Given the description of an element on the screen output the (x, y) to click on. 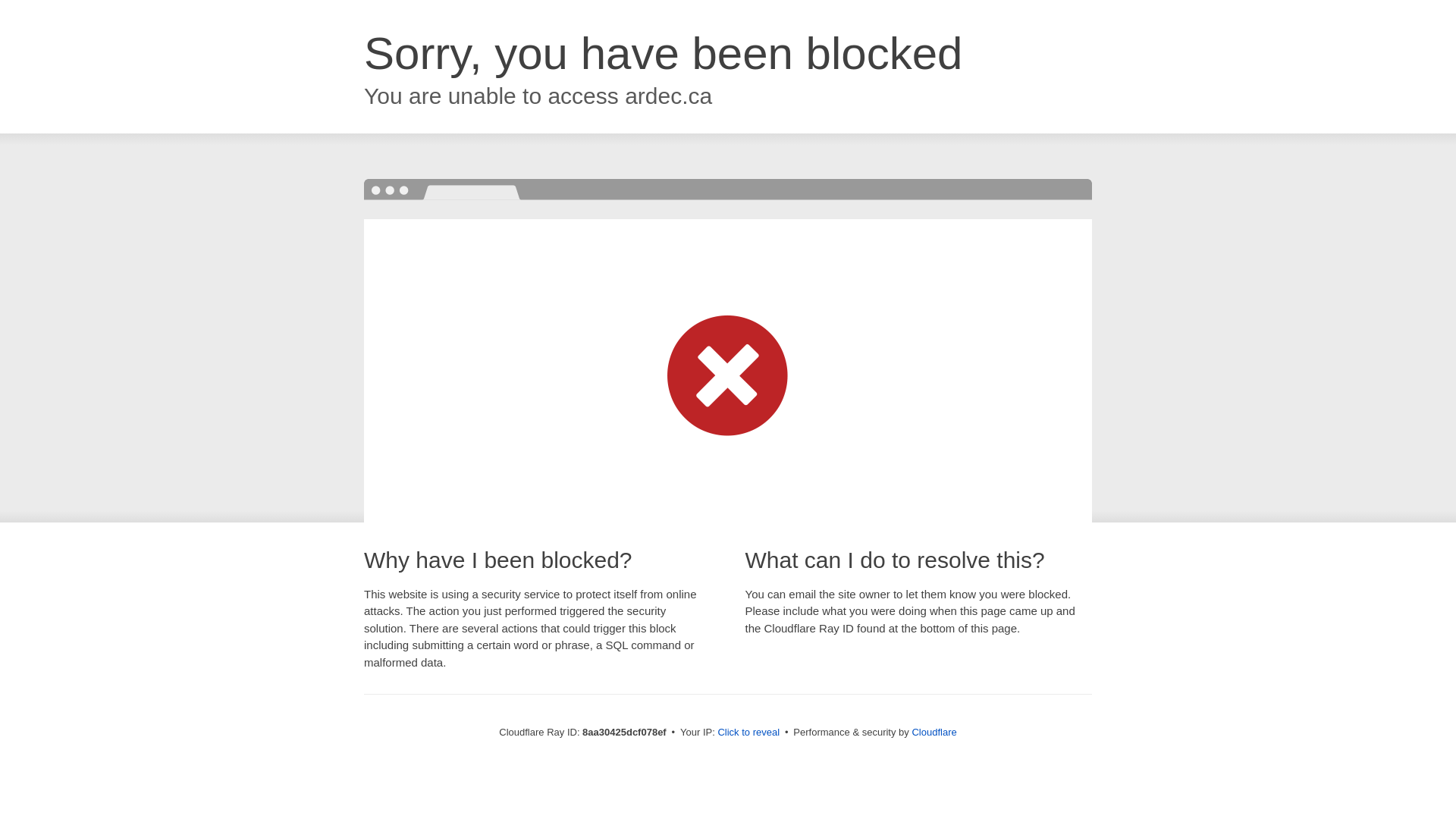
Click to reveal (747, 732)
Cloudflare (933, 731)
